Given the description of an element on the screen output the (x, y) to click on. 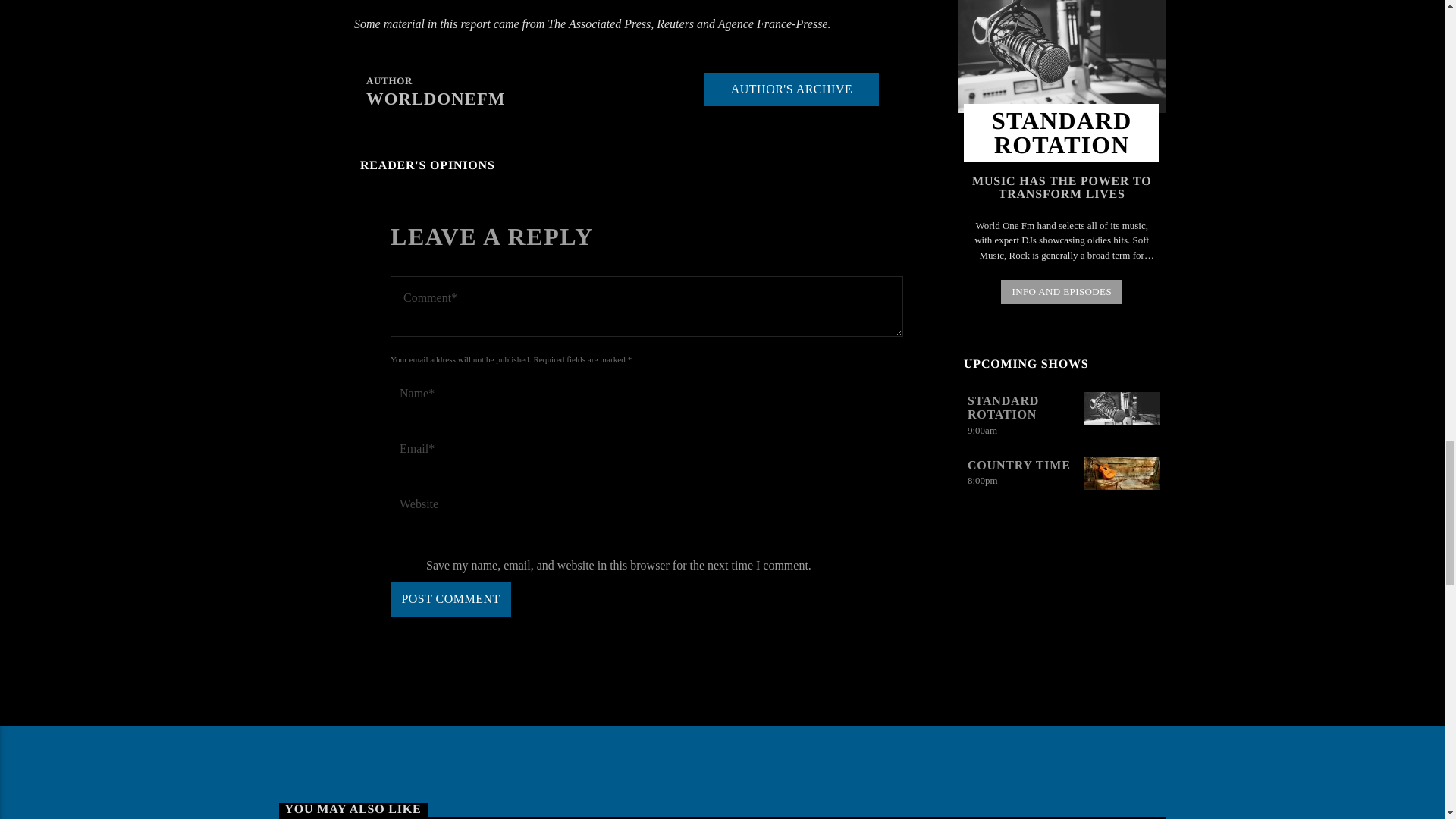
Post Comment (450, 599)
